Given the description of an element on the screen output the (x, y) to click on. 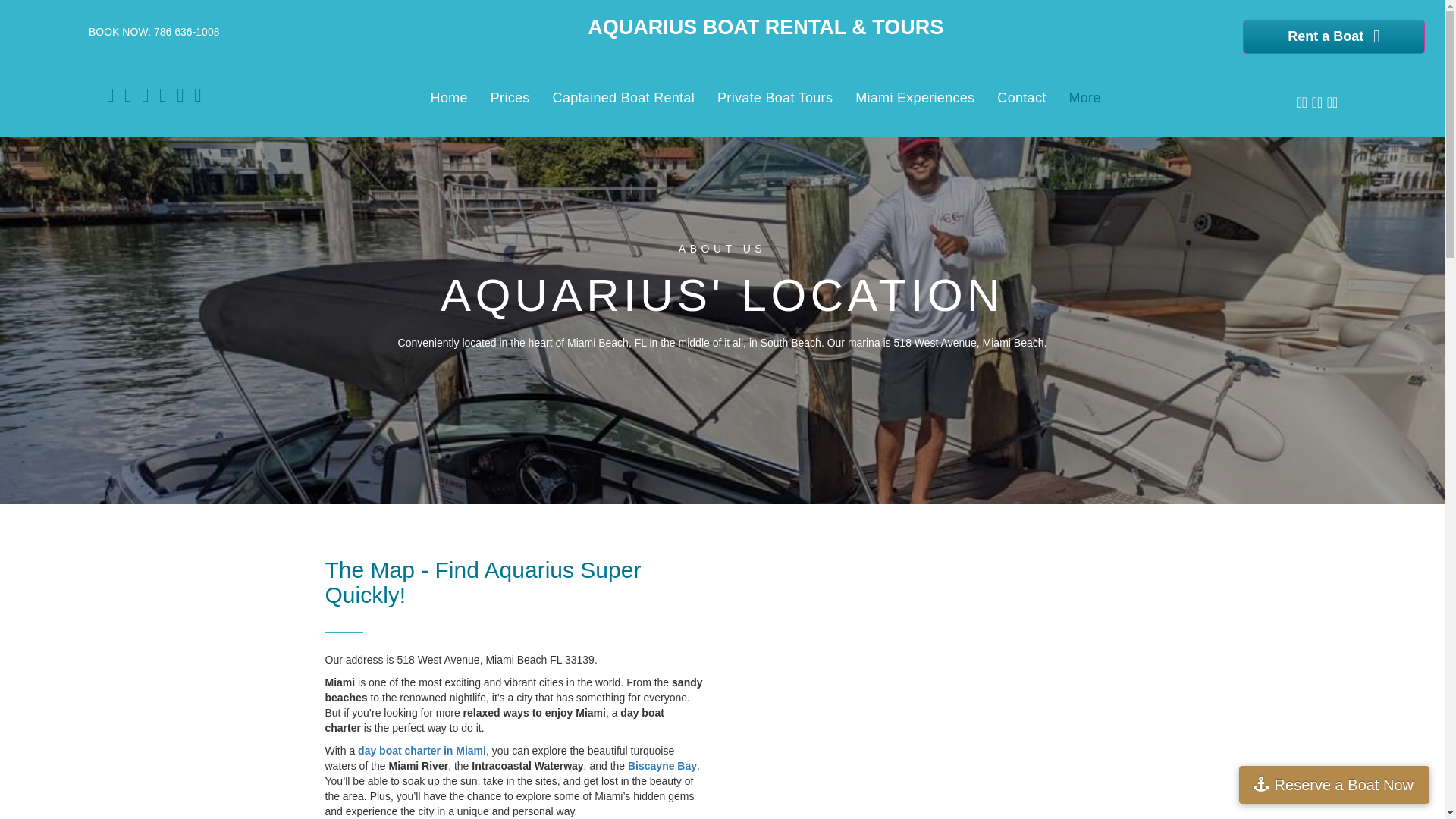
Contact (1021, 97)
Private Boat Tours (775, 97)
Home (449, 97)
The map - find Aquarius super quickly! (482, 582)
Best Charter in Miami (422, 750)
Biscayne Bay Florida (662, 766)
Prices (510, 97)
AQUARIUS' LOCATION (722, 295)
South Beach (790, 342)
BOOK NOW: 786 636-1008 (153, 31)
